Given the description of an element on the screen output the (x, y) to click on. 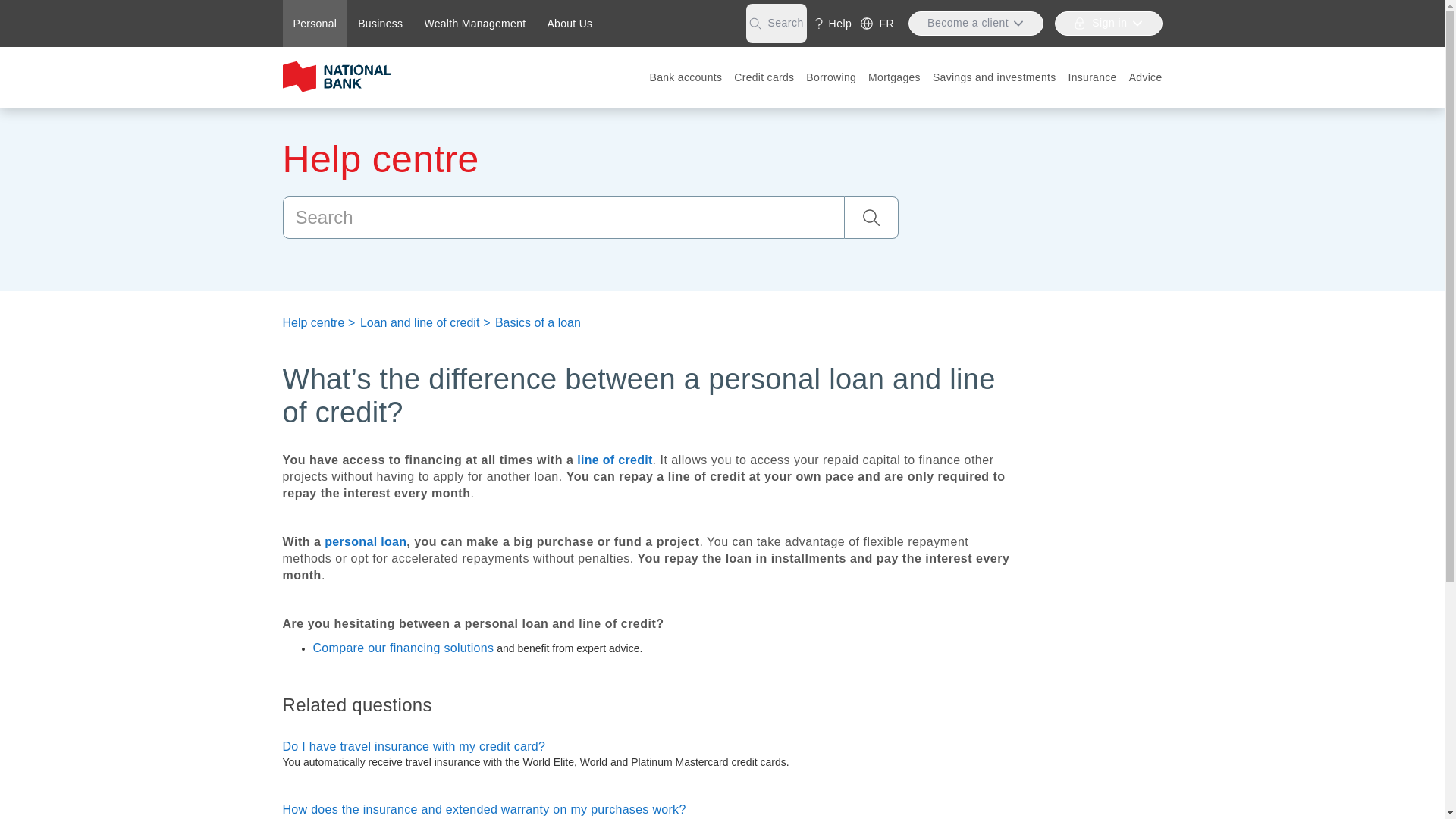
Insurance (1091, 77)
Savings and investments (994, 77)
Become a client (975, 23)
About Us (568, 23)
Advice (1145, 77)
Wealth Management (474, 23)
Personal (314, 23)
Credit cards (763, 77)
FR (876, 23)
Search (775, 23)
Mortgages (893, 77)
Borrowing (830, 77)
Bank accounts (686, 77)
Help (832, 23)
